Given the description of an element on the screen output the (x, y) to click on. 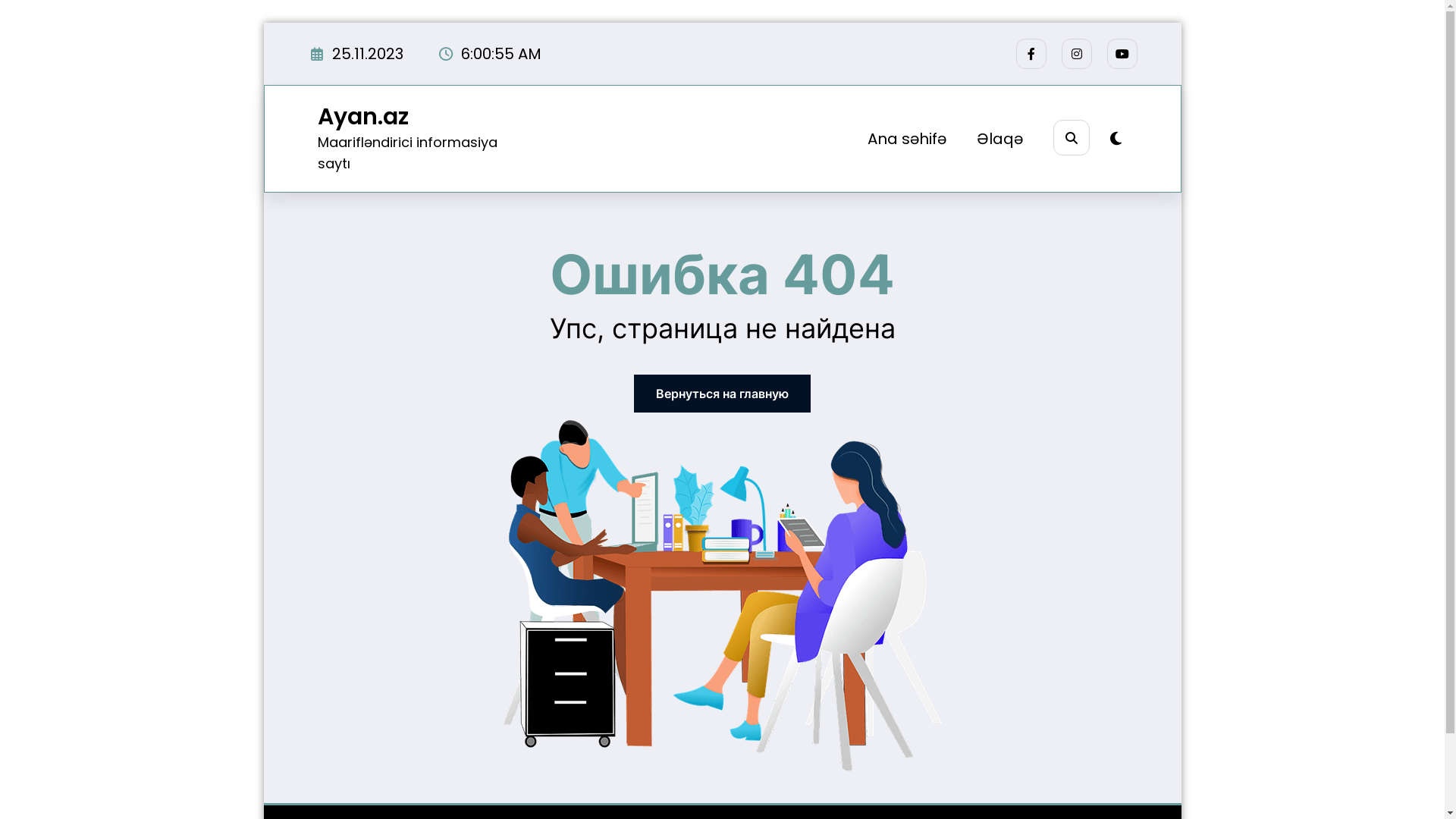
Dark Light Layout Element type: hover (1115, 138)
facebook-f Element type: hover (1031, 53)
instagram Element type: hover (1076, 53)
youtube Element type: hover (1122, 53)
Ayan.az Element type: text (361, 116)
